Given the description of an element on the screen output the (x, y) to click on. 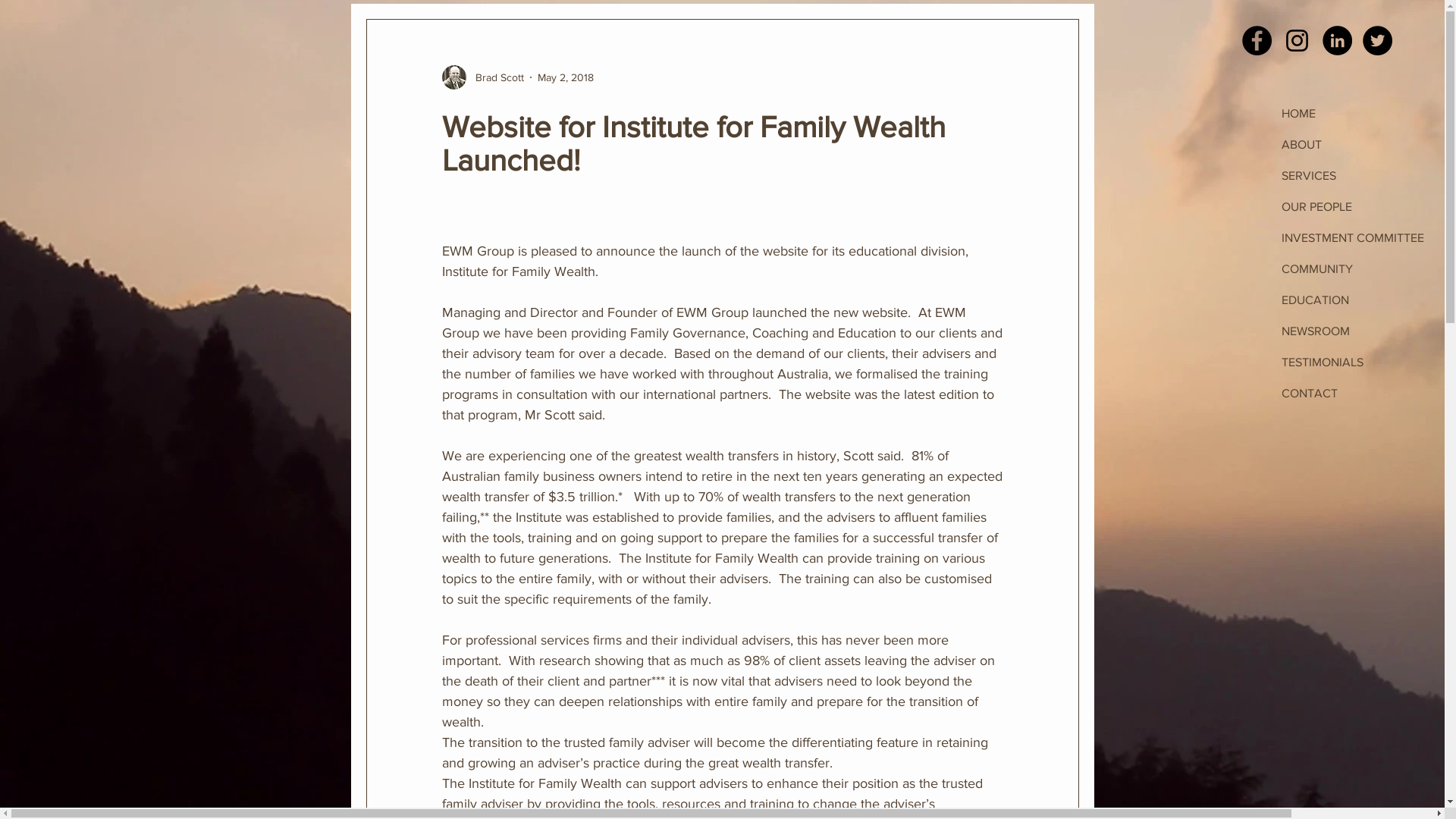
INVESTMENT COMMITTEE Element type: text (1362, 237)
COMMUNITY Element type: text (1362, 268)
EDUCATION Element type: text (1362, 299)
HOME Element type: text (1362, 112)
SERVICES Element type: text (1362, 175)
NEWSROOM Element type: text (1362, 330)
TESTIMONIALS Element type: text (1362, 361)
CONTACT Element type: text (1362, 392)
OUR PEOPLE Element type: text (1362, 206)
ABOUT Element type: text (1362, 144)
